Given the description of an element on the screen output the (x, y) to click on. 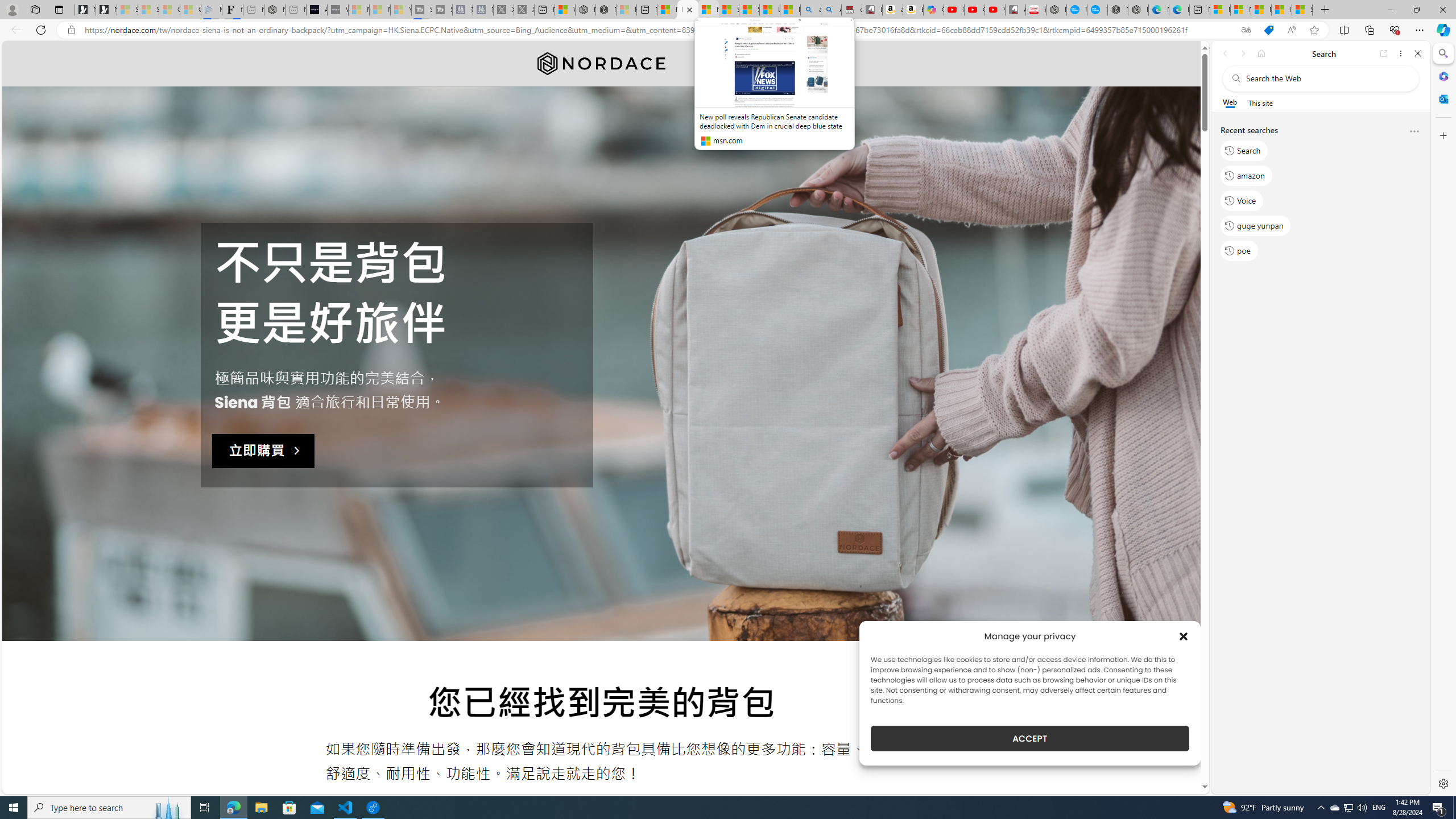
Recent searchesSearchamazonVoiceguge yunpanpoe (1320, 194)
YouTube Kids - An App Created for Kids to Explore Content (994, 9)
poe (1238, 250)
Web scope (1230, 102)
Microsoft Start Sports - Sleeping (358, 9)
I Gained 20 Pounds of Muscle in 30 Days! | Watch (1281, 9)
